Given the description of an element on the screen output the (x, y) to click on. 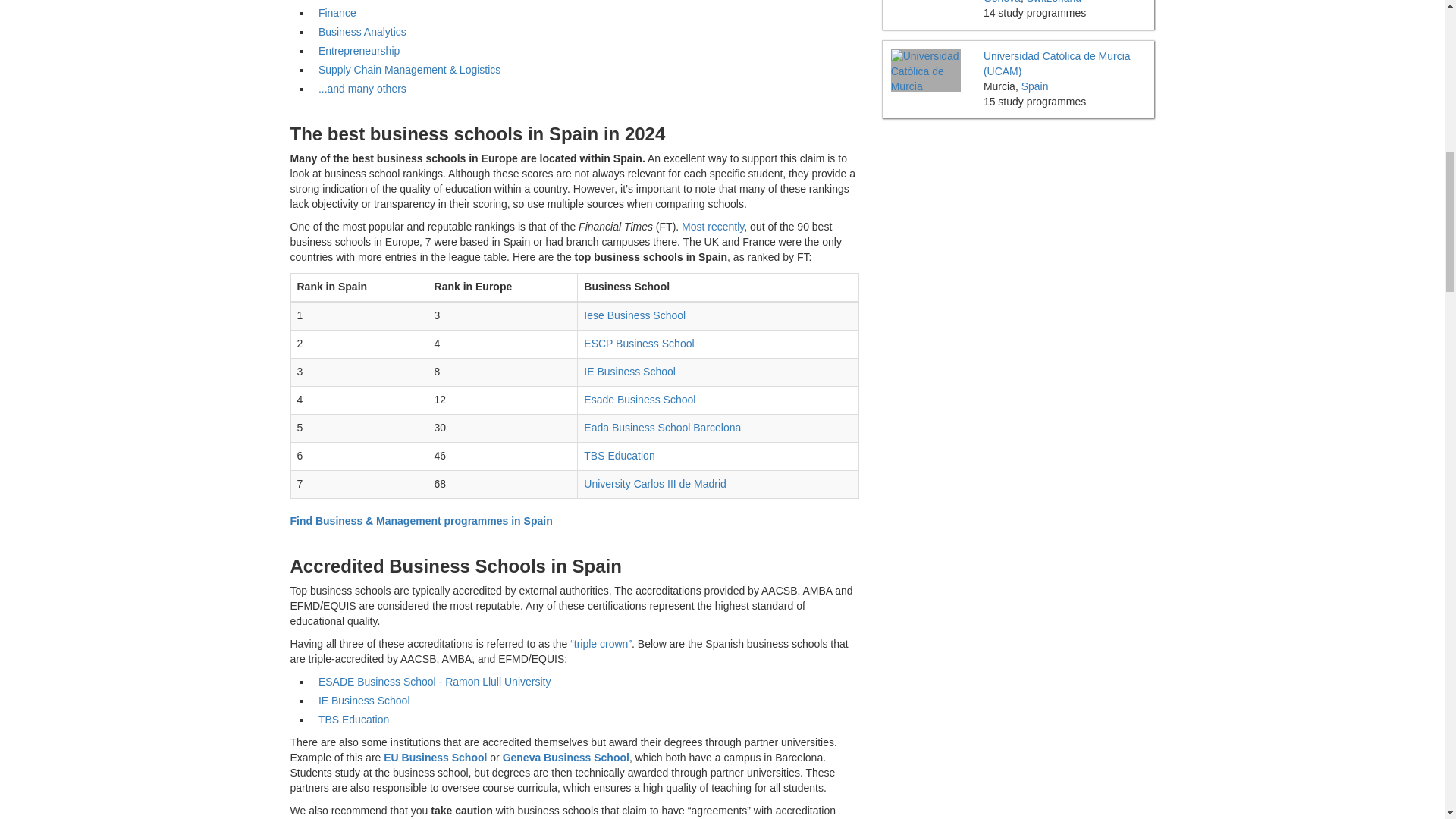
Finance (337, 12)
IE Business School (364, 700)
ESCP Business School (638, 343)
Most recently (712, 226)
Business Analytics (362, 31)
Geneva Business School (565, 757)
...and many others (362, 88)
Iese Business School (634, 315)
EU Business School (435, 757)
ESADE Business School - Ramon Llull University (434, 681)
Eada Business School Barcelona (662, 427)
Entrepreneurship (358, 50)
TBS Education (353, 719)
IE Business School (629, 371)
University Carlos III de Madrid (654, 483)
